Given the description of an element on the screen output the (x, y) to click on. 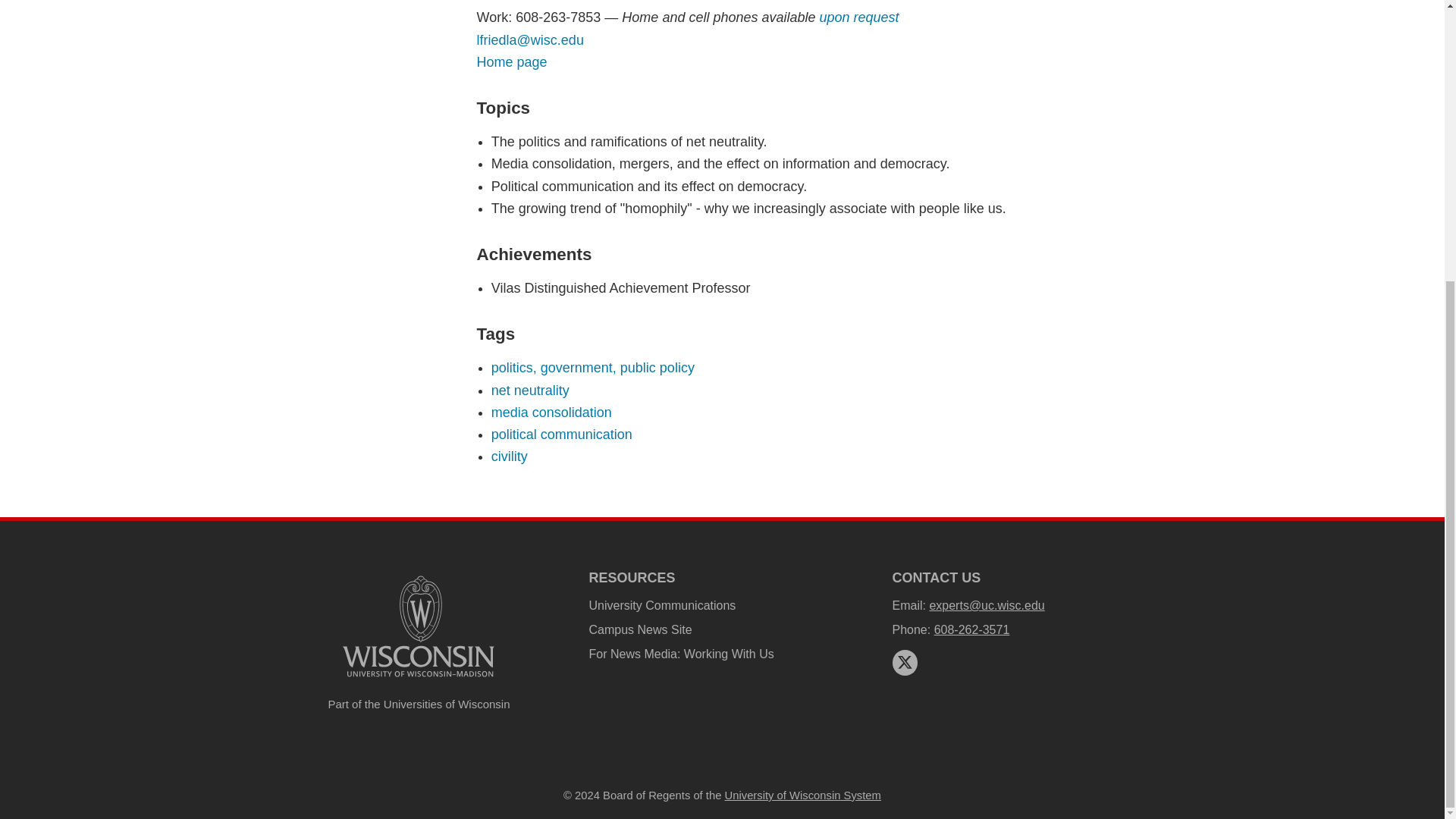
For News Media: Working With Us (680, 653)
civility (509, 456)
608-262-3571 (972, 629)
Campus News Site (639, 629)
political communication (561, 434)
media consolidation (551, 412)
net neutrality (530, 390)
politics, government, public policy (593, 367)
Part of the Universities of Wisconsin (418, 704)
University of Wisconsin System (802, 795)
